Given the description of an element on the screen output the (x, y) to click on. 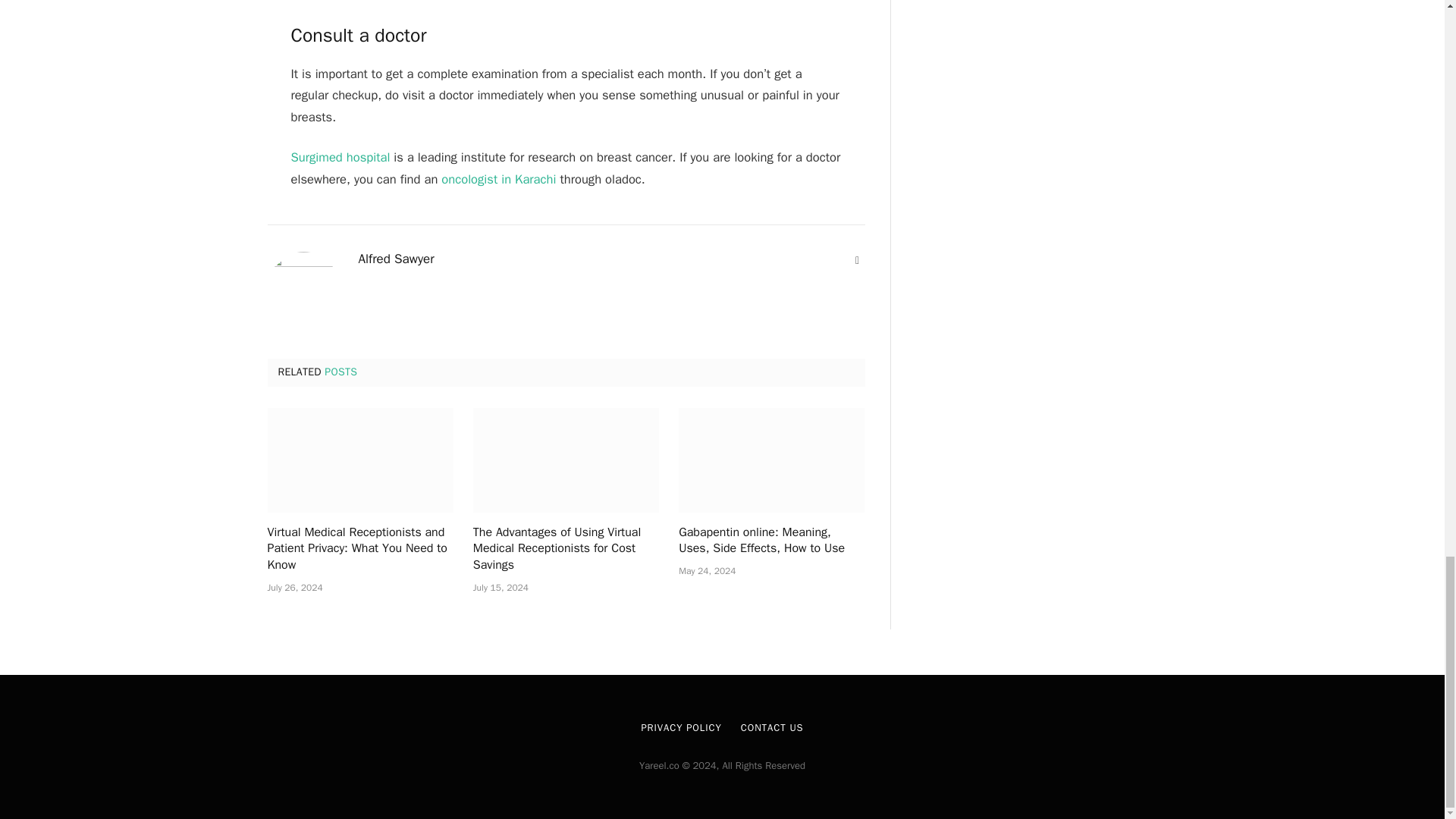
oncologist in Karachi (498, 179)
Gabapentin online: Meaning, Uses, Side Effects, How to Use (771, 459)
Website (856, 260)
Posts by Alfred Sawyer (395, 258)
Surgimed hospital (340, 157)
Website (856, 260)
